Given the description of an element on the screen output the (x, y) to click on. 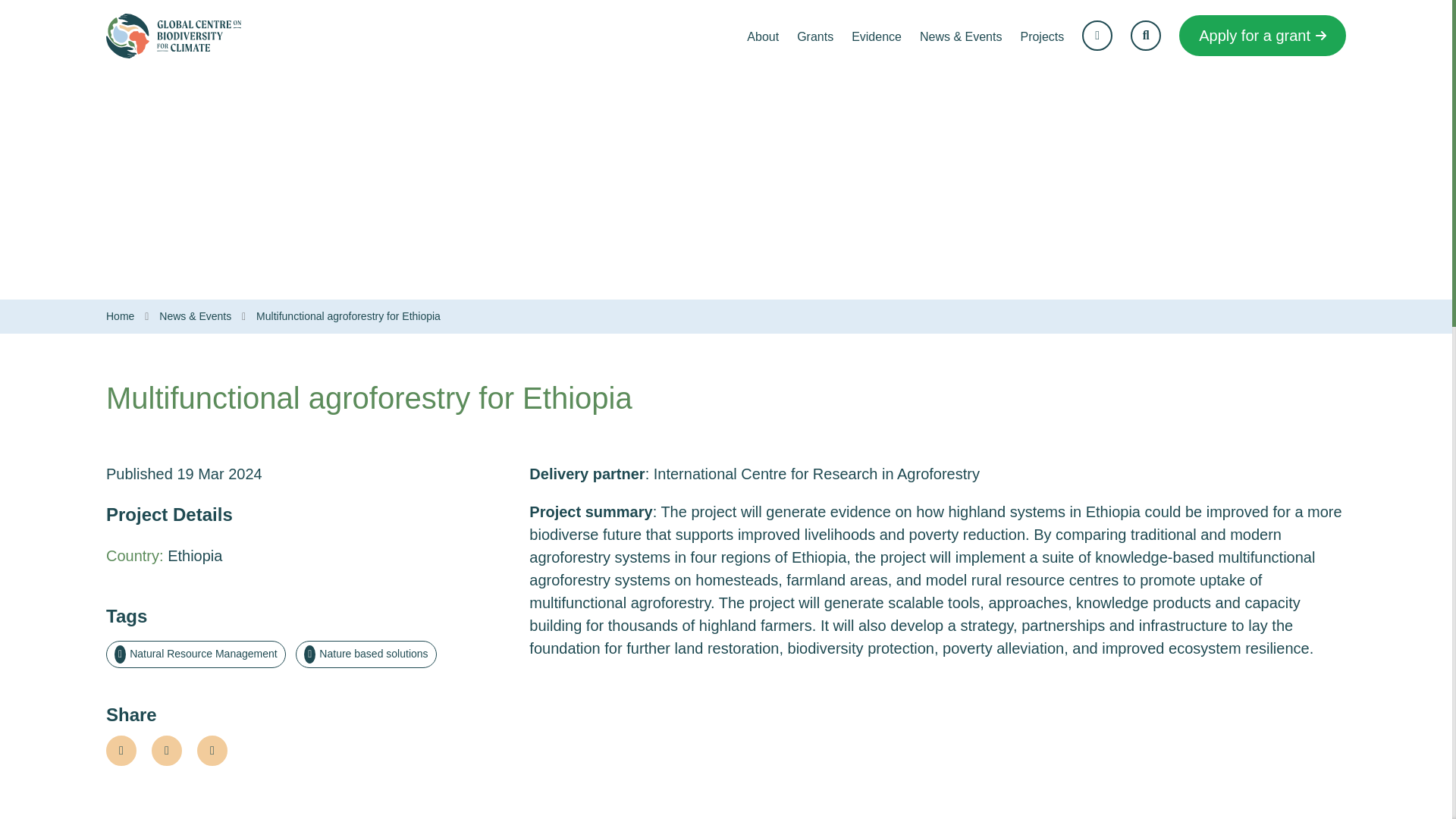
Nature based solutions (365, 654)
Home (119, 316)
Grants (814, 36)
Projects (1042, 36)
Apply for a grant (1262, 35)
About (762, 36)
Natural Resource Management (195, 654)
GCBC (119, 316)
Evidence (876, 36)
